Given the description of an element on the screen output the (x, y) to click on. 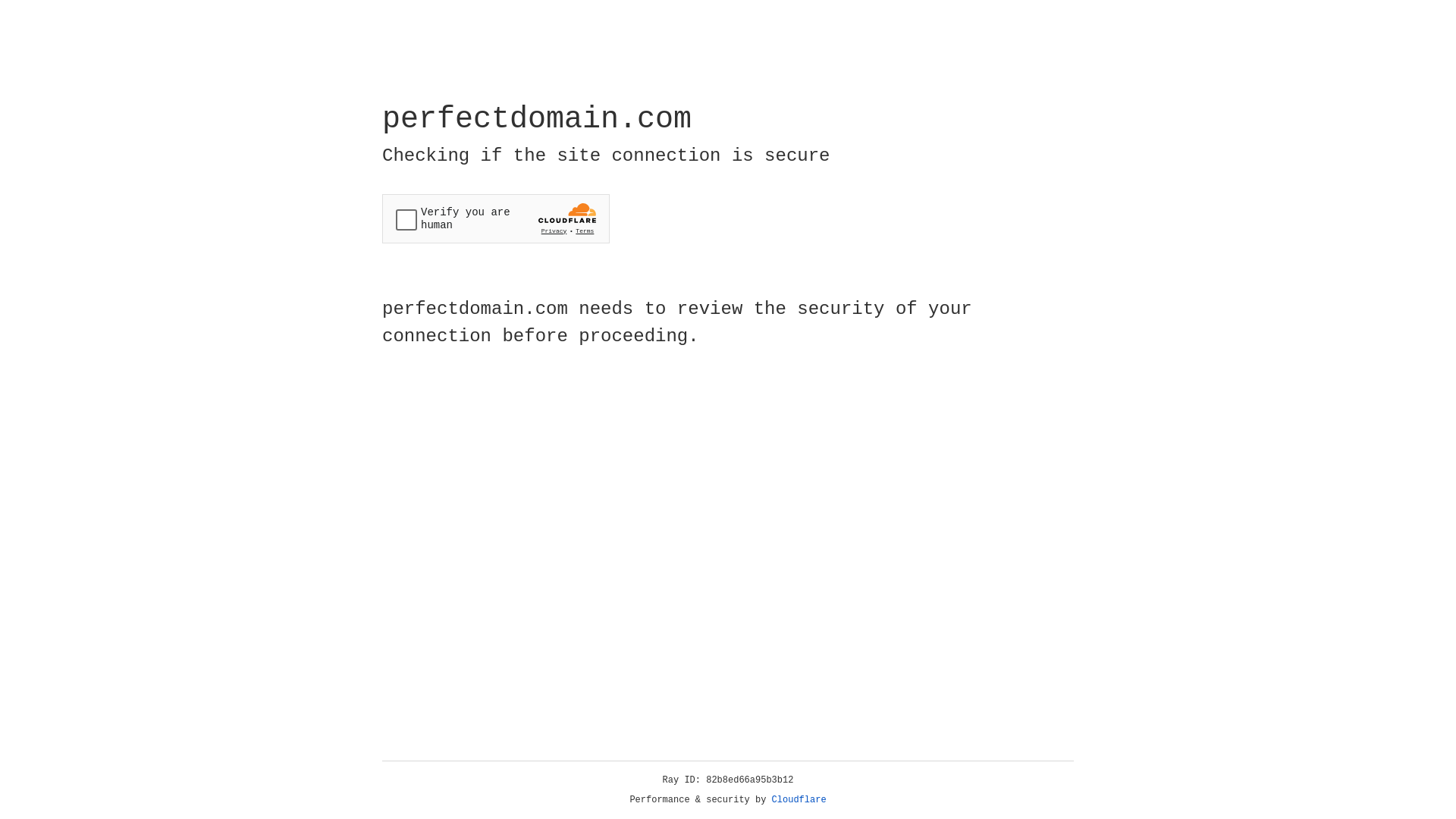
Cloudflare Element type: text (798, 799)
Widget containing a Cloudflare security challenge Element type: hover (495, 218)
